Given the description of an element on the screen output the (x, y) to click on. 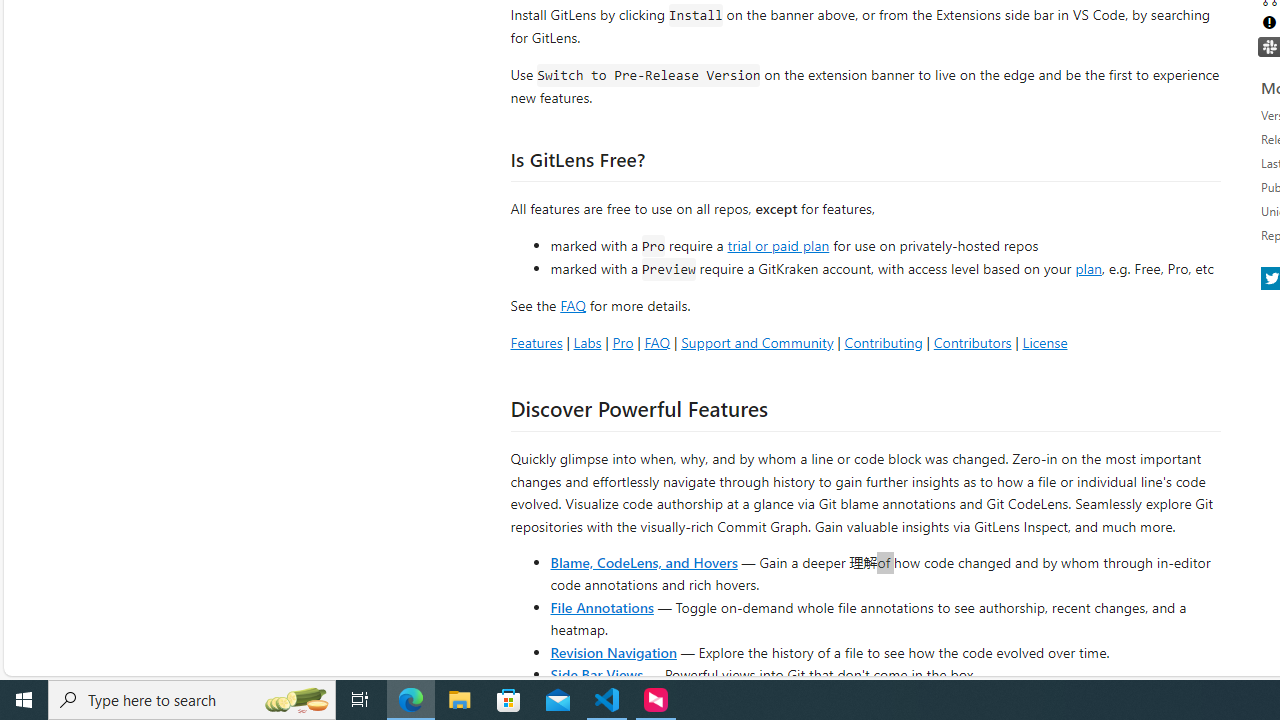
Contributing (882, 341)
Support and Community (757, 341)
Labs (587, 341)
Blame, CodeLens, and Hovers (644, 561)
Revision Navigation (613, 651)
File Annotations (602, 606)
plan (1088, 269)
trial or paid plan (778, 244)
License (1044, 341)
FAQ (656, 341)
Side Bar Views (596, 673)
